Given the description of an element on the screen output the (x, y) to click on. 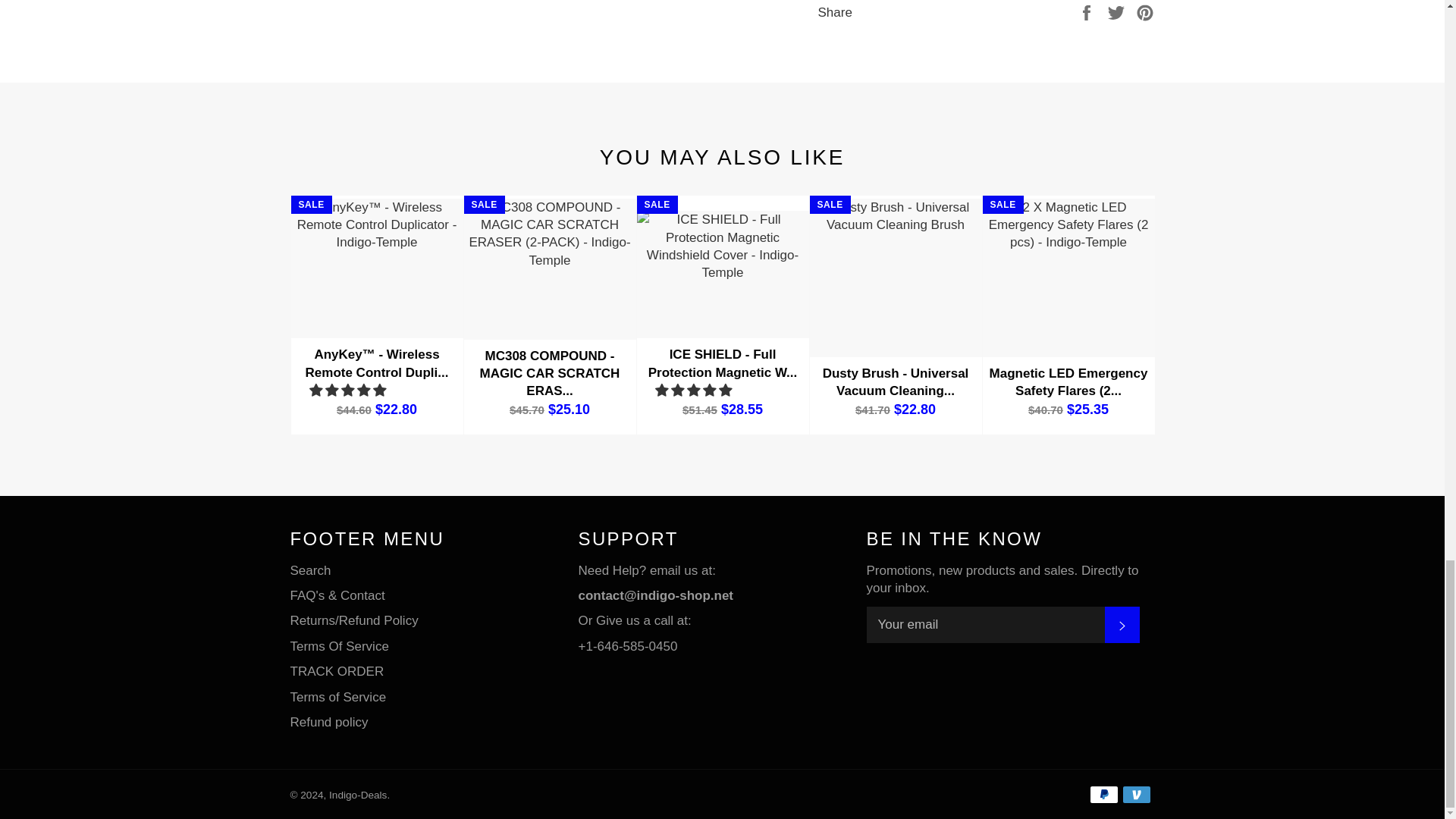
Share on Facebook (1088, 11)
Pin on Pinterest (1144, 11)
Tweet on Twitter (1117, 11)
